Given the description of an element on the screen output the (x, y) to click on. 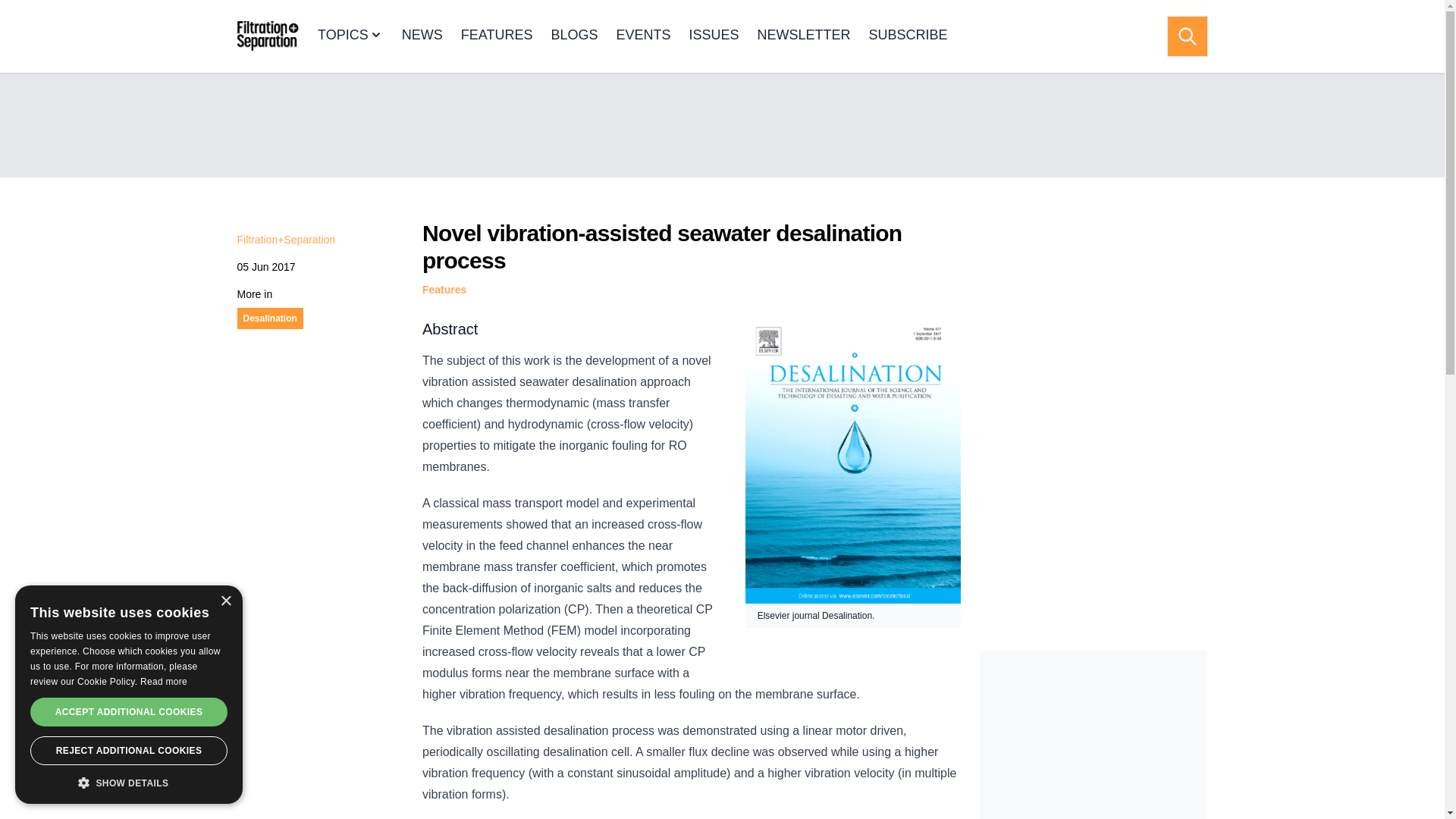
BLOGS (573, 36)
3rd party ad content (1093, 734)
Features (443, 289)
Desalination (270, 317)
ISSUES (713, 36)
TOPICS (350, 36)
EVENTS (642, 36)
NEWSLETTER (803, 36)
SUBSCRIBE (908, 36)
NEWS (421, 36)
FEATURES (496, 36)
3rd party ad content (721, 124)
